Given the description of an element on the screen output the (x, y) to click on. 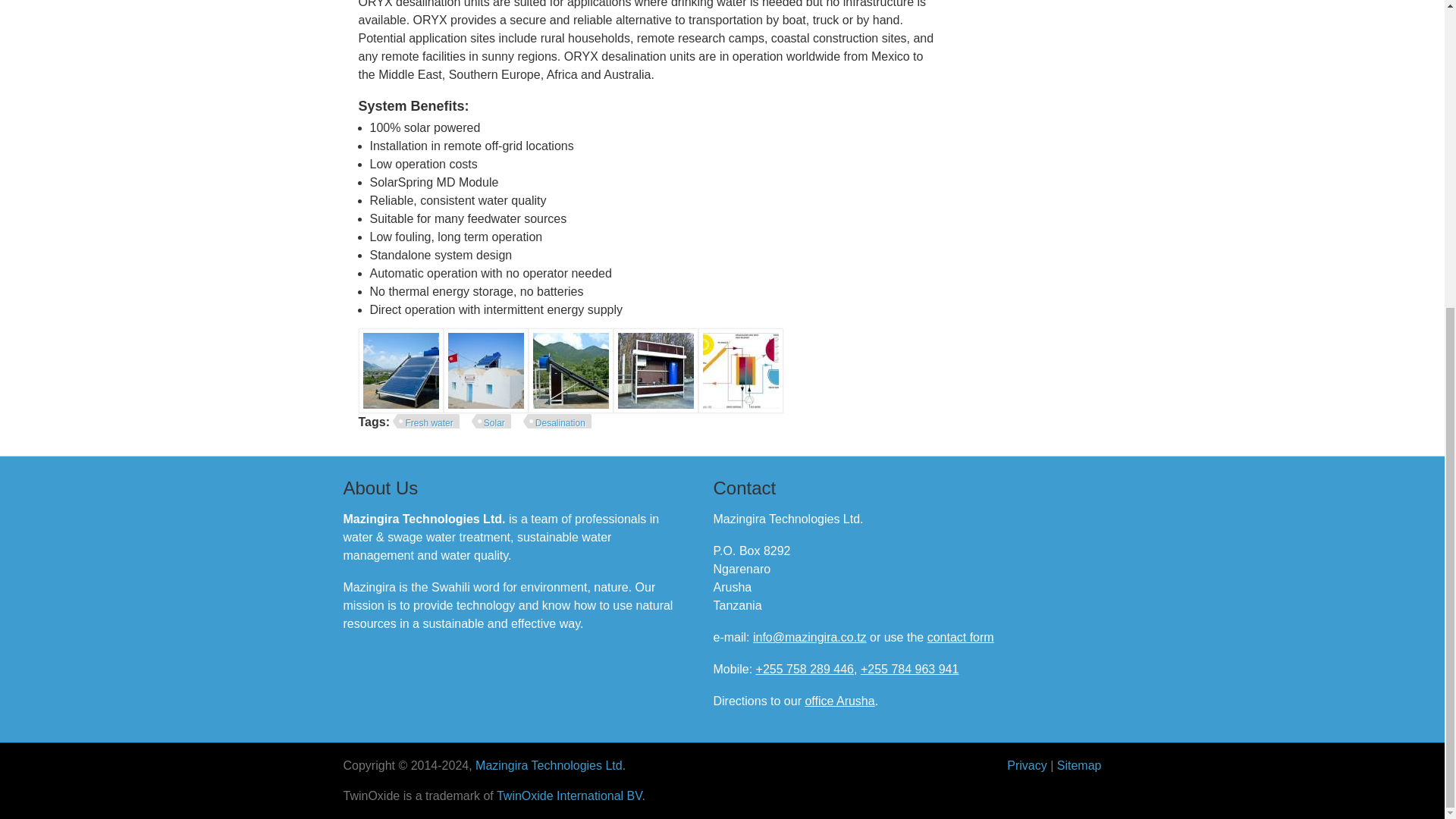
Inside view (654, 370)
Schematic overview (740, 370)
Front view on solar heater and solar panel (400, 370)
Mounted on a roof (484, 370)
Desalination (556, 422)
Fresh water (425, 422)
View from the side (569, 370)
Solar (491, 422)
